Given the description of an element on the screen output the (x, y) to click on. 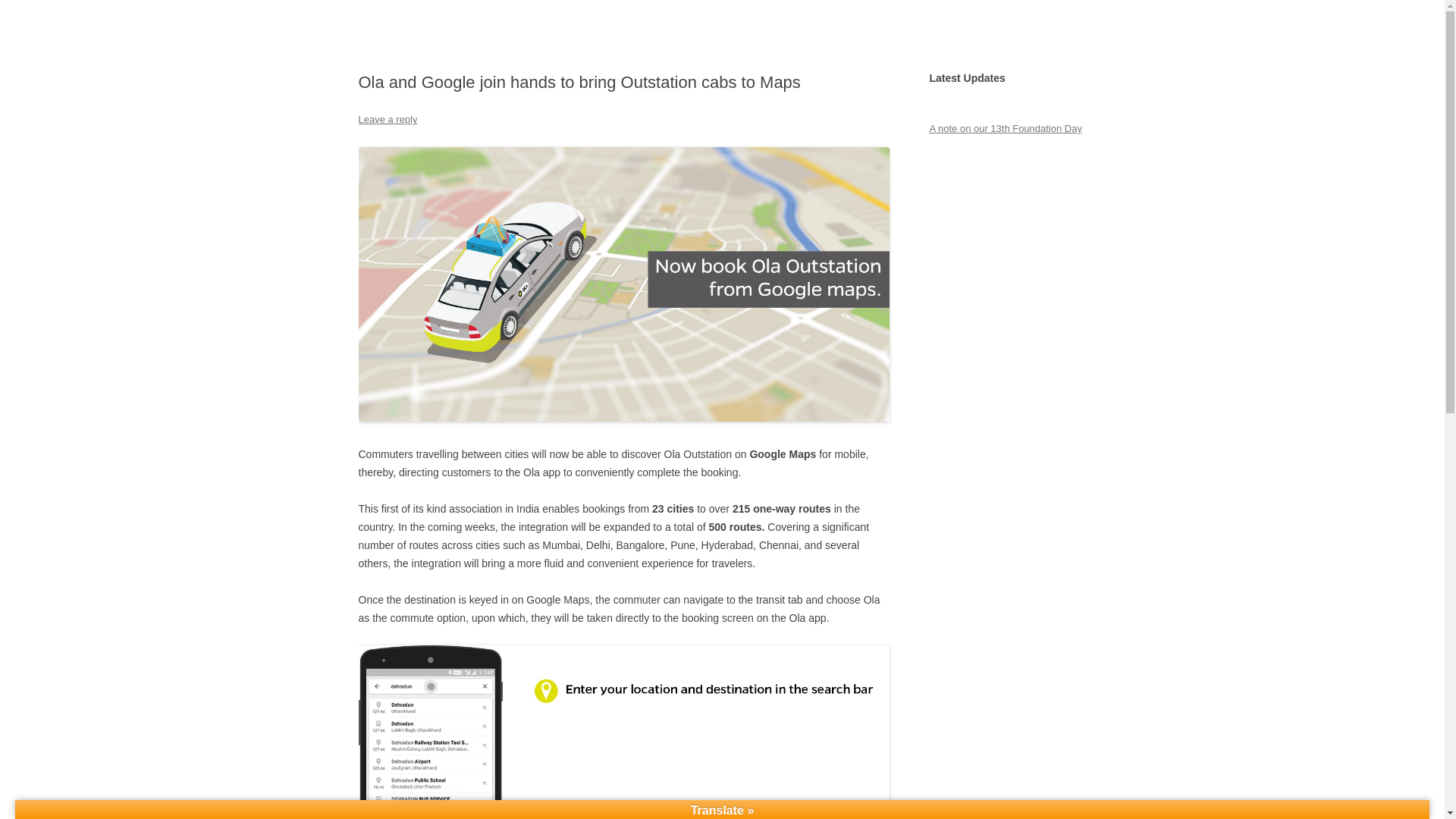
A note on our 13th Foundation Day (1004, 128)
Leave a reply (387, 119)
Olacabs Blogs (426, 36)
